Given the description of an element on the screen output the (x, y) to click on. 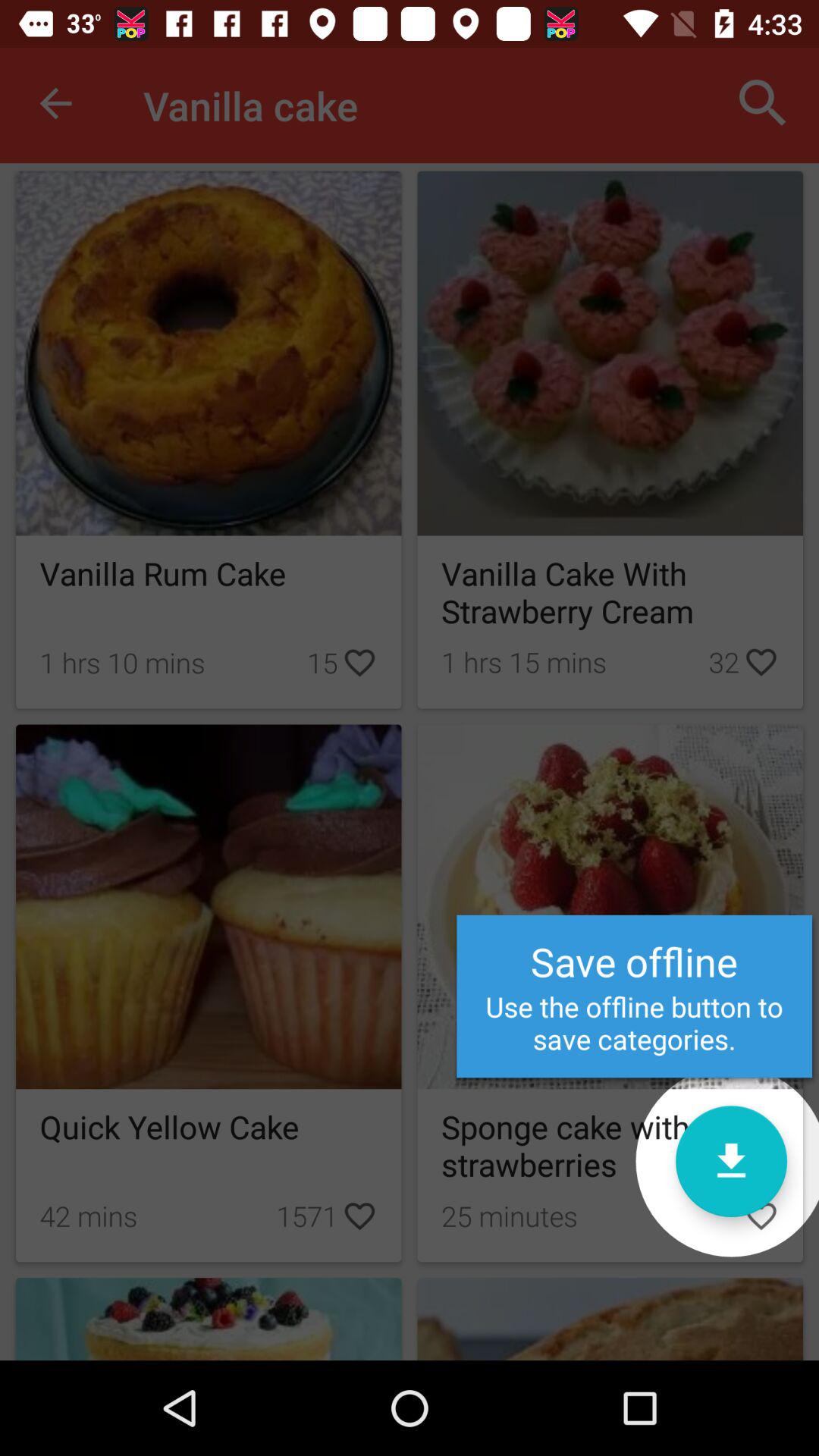
save recipe offline (731, 1161)
